Given the description of an element on the screen output the (x, y) to click on. 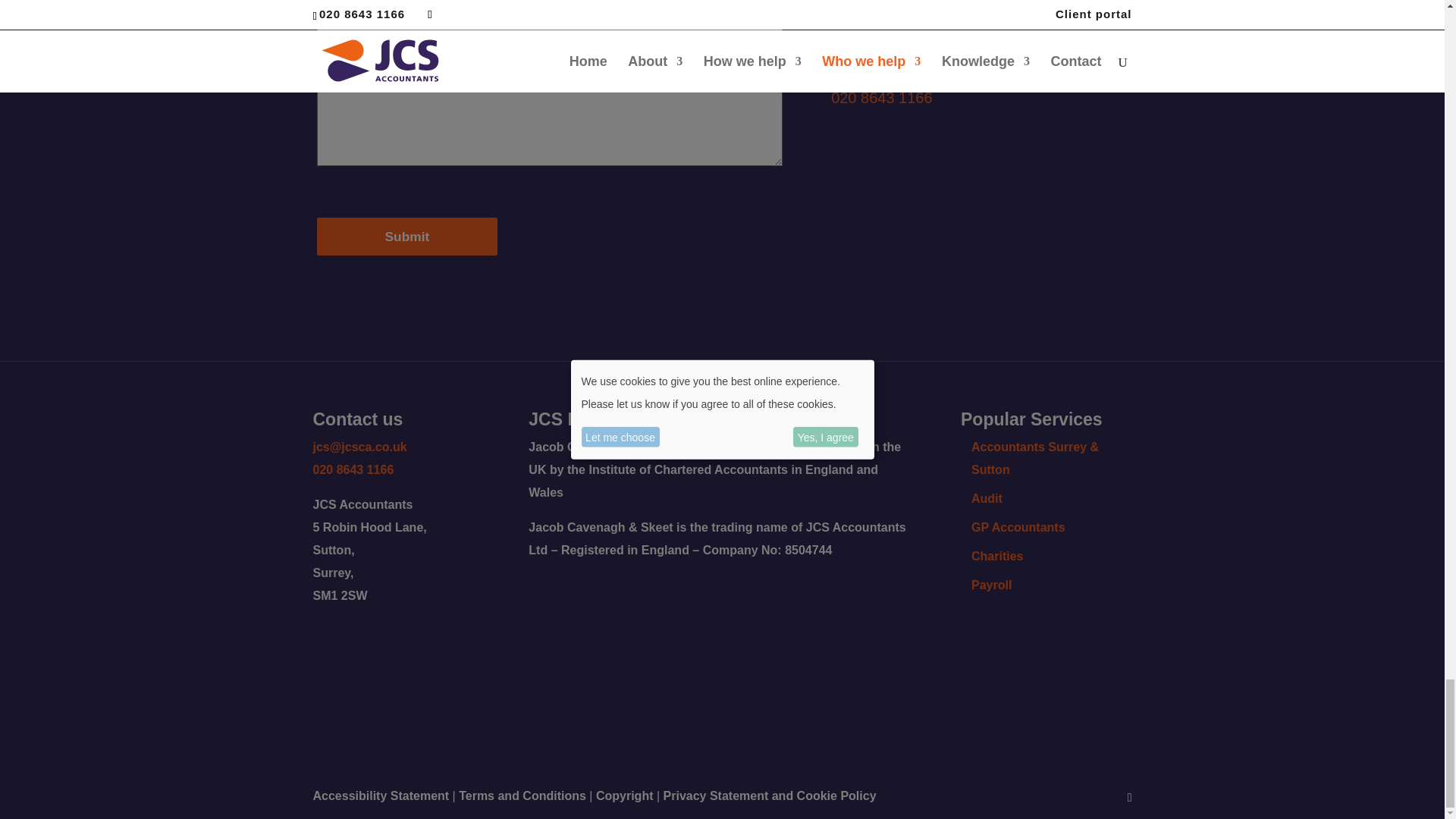
Submit (407, 236)
